Given the description of an element on the screen output the (x, y) to click on. 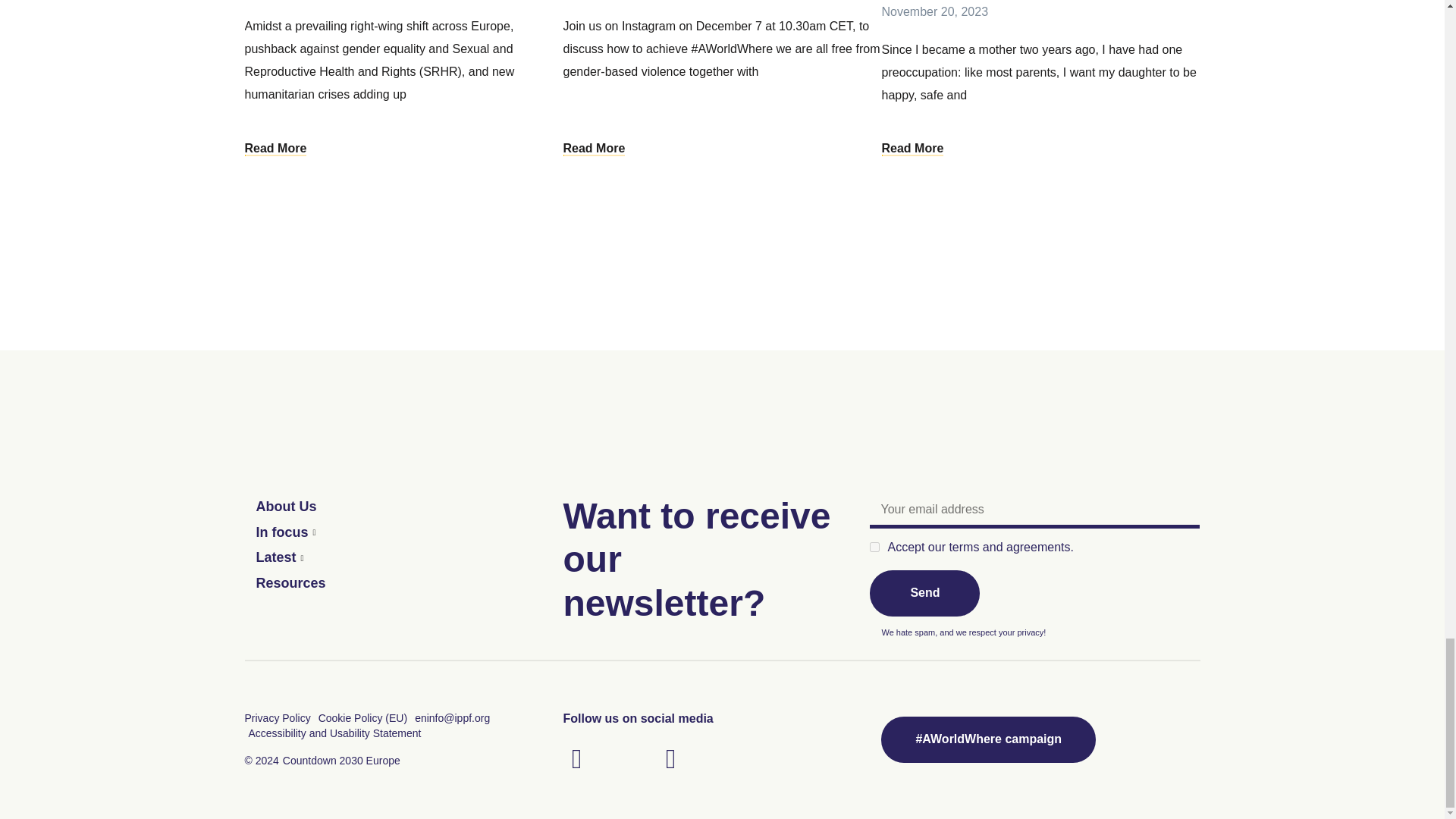
on (874, 547)
